Given the description of an element on the screen output the (x, y) to click on. 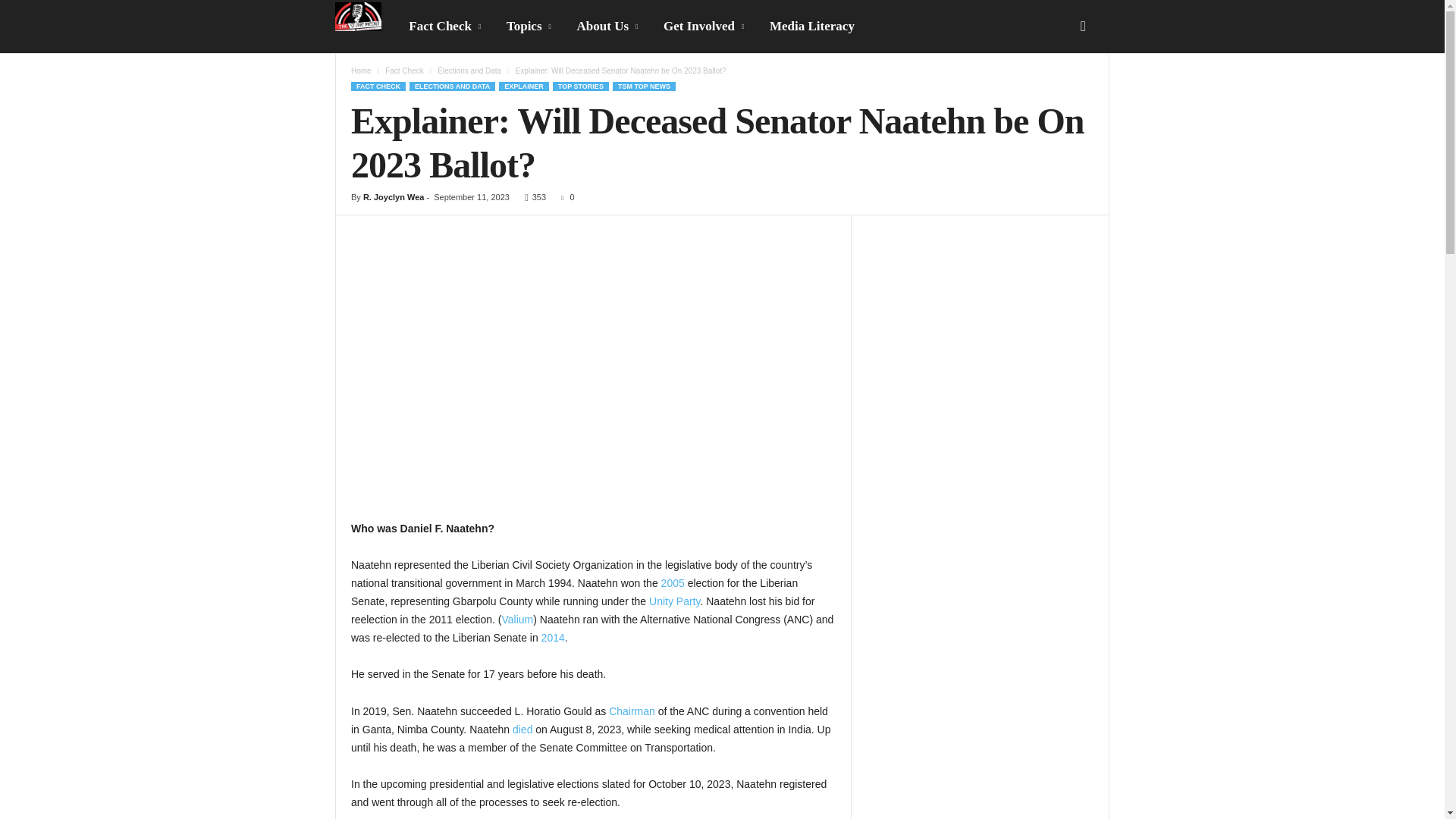
Topics (530, 26)
View all posts in Fact Check (404, 70)
About Us (609, 26)
View all posts in Elections and Data (469, 70)
Fact Check (446, 26)
The Stage Media Liberia (365, 16)
